Given the description of an element on the screen output the (x, y) to click on. 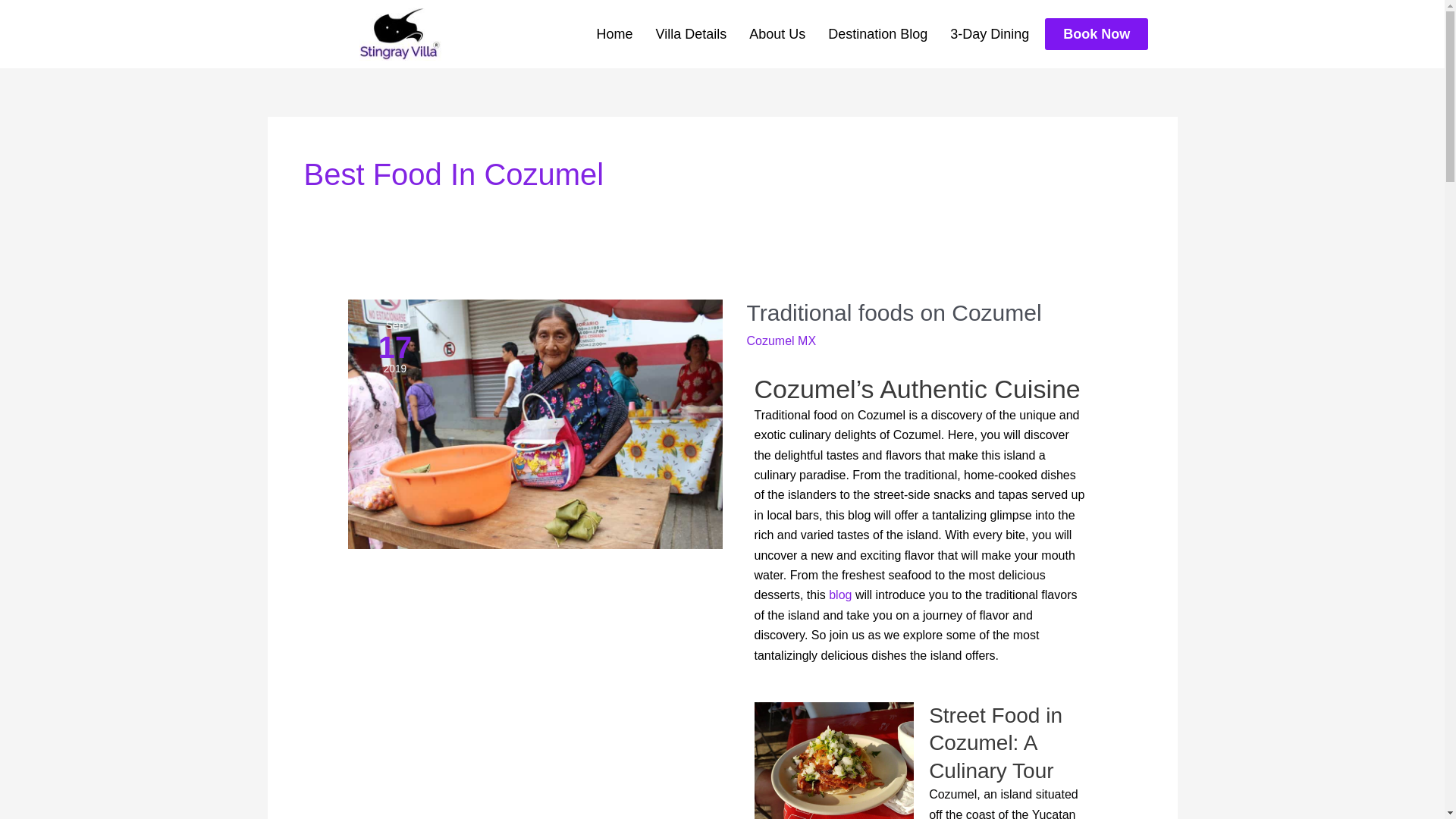
Home (614, 34)
Cozumel MX (780, 340)
Traditional foods on Cozumel (893, 312)
About Us (777, 34)
Book Now (1096, 33)
3-Day Dining (990, 34)
blog (839, 594)
Villa Details (690, 34)
Destination Blog (877, 34)
